Given the description of an element on the screen output the (x, y) to click on. 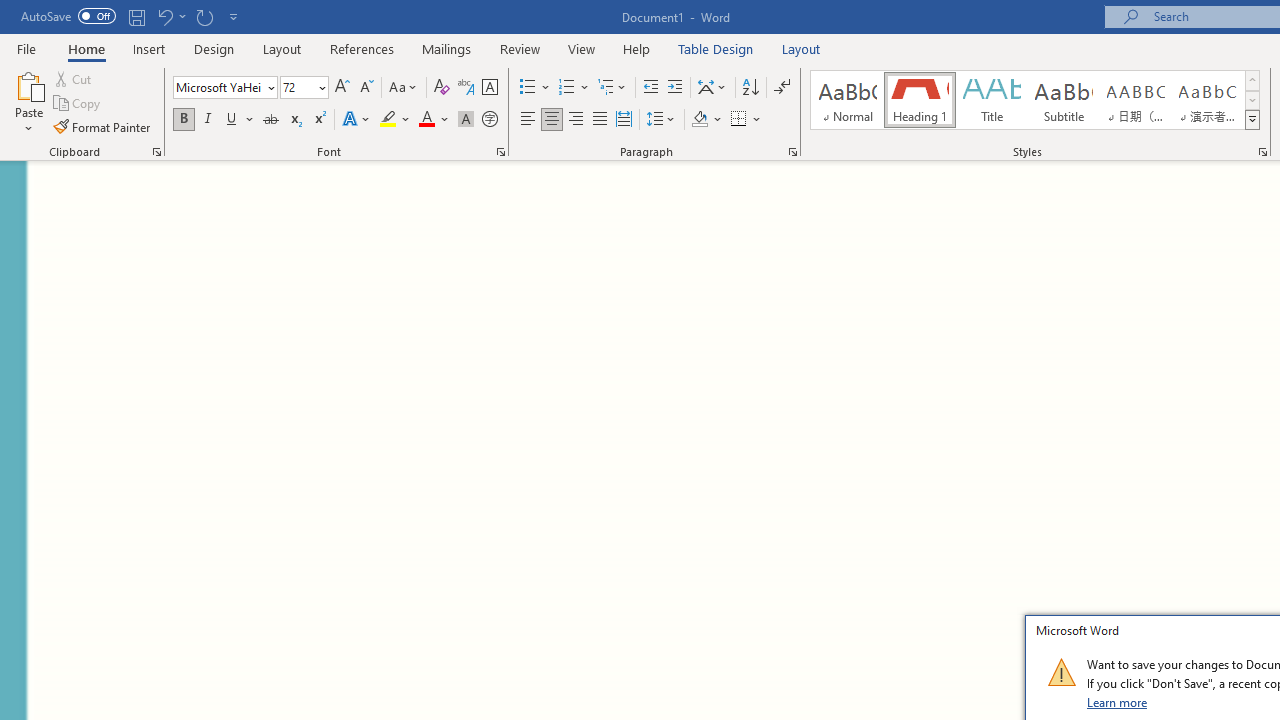
Justify (599, 119)
Subtitle (1063, 100)
Styles... (1262, 151)
Font Color Red (426, 119)
Enclose Characters... (489, 119)
Show/Hide Editing Marks (781, 87)
Text Highlight Color Yellow (388, 119)
Office Clipboard... (156, 151)
Increase Indent (675, 87)
